Given the description of an element on the screen output the (x, y) to click on. 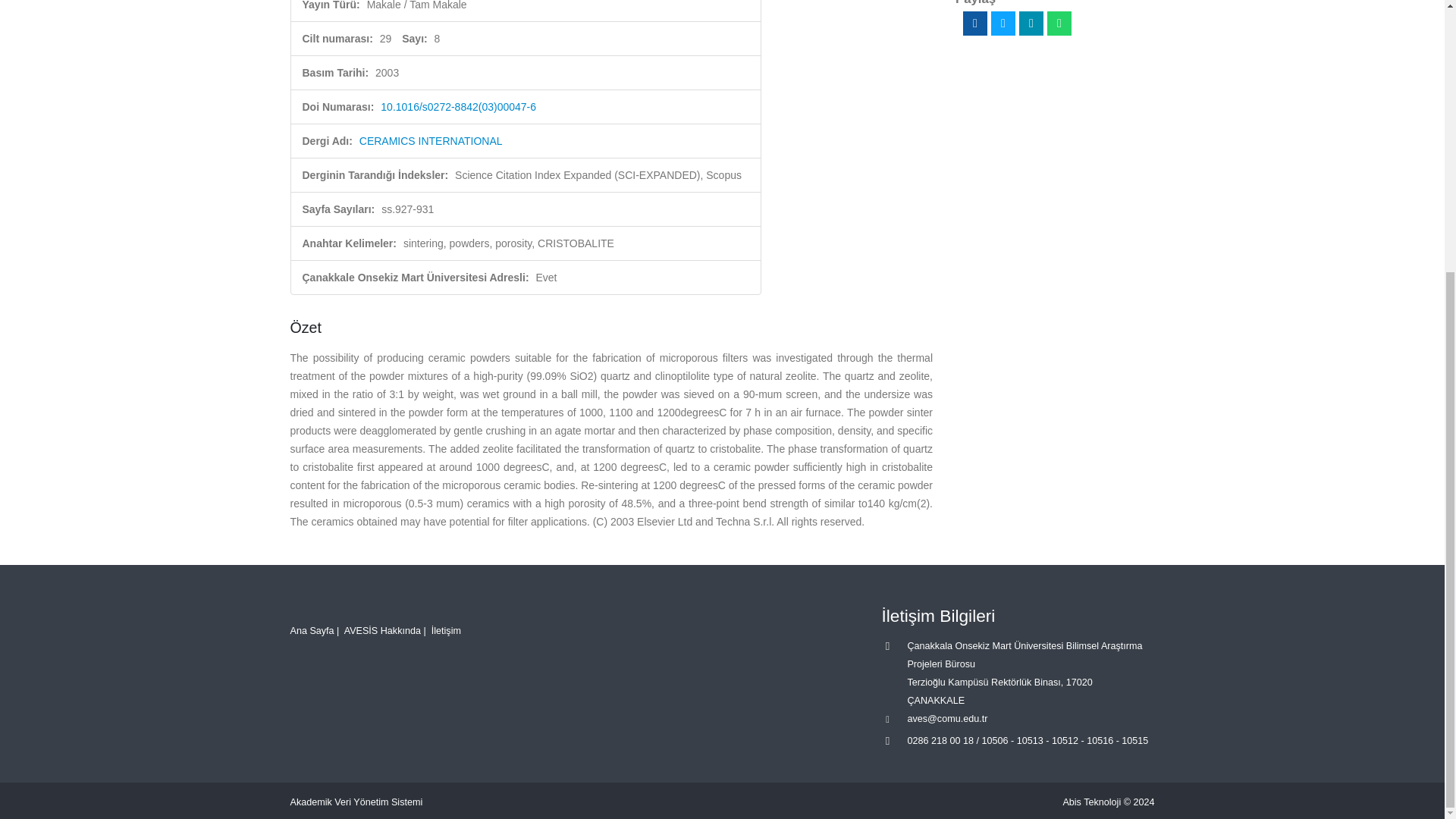
CERAMICS INTERNATIONAL (430, 141)
Ana Sayfa (311, 630)
Abis Teknoloji (1091, 801)
